Given the description of an element on the screen output the (x, y) to click on. 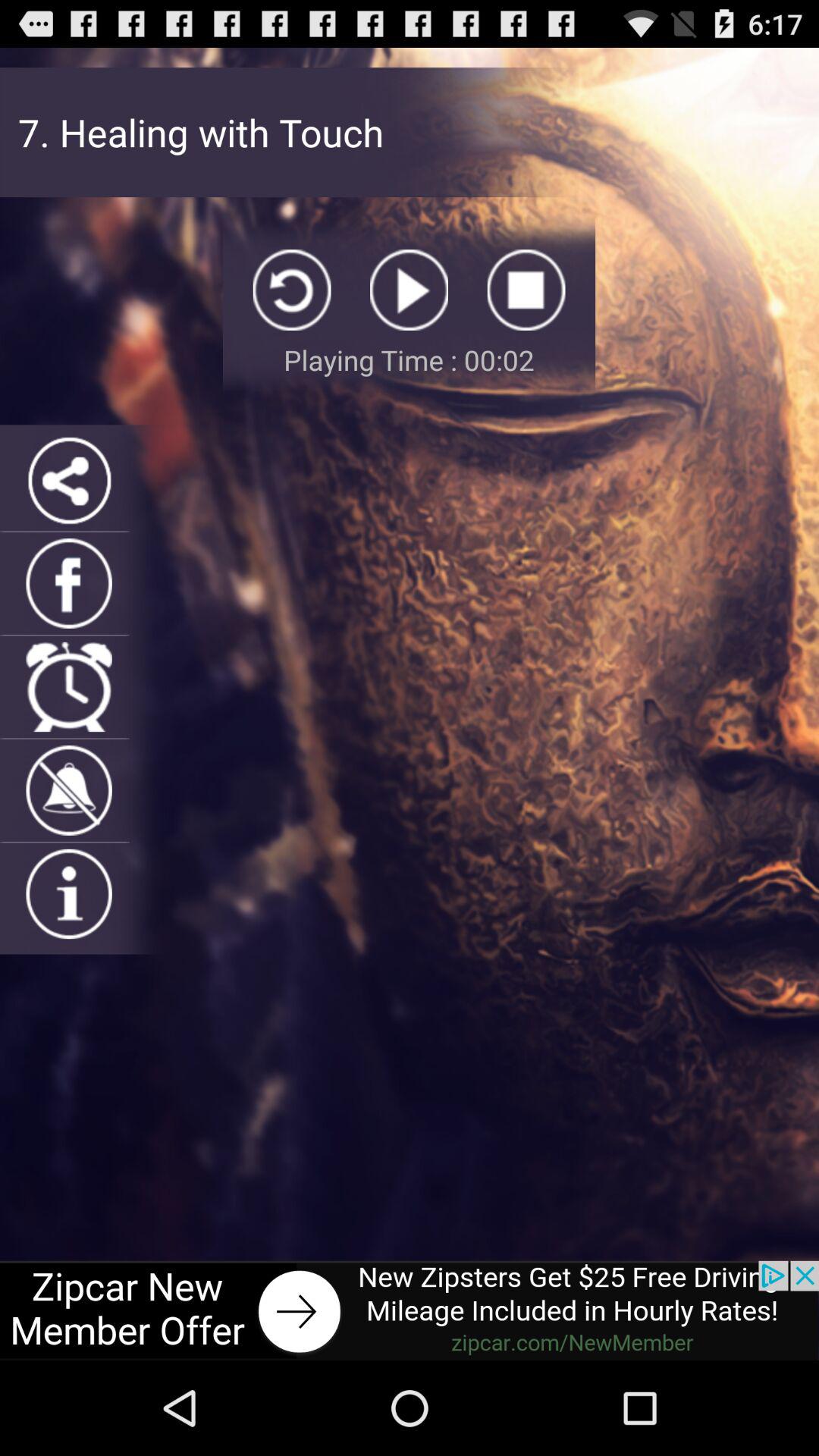
toggle autoplay option (409, 289)
